Given the description of an element on the screen output the (x, y) to click on. 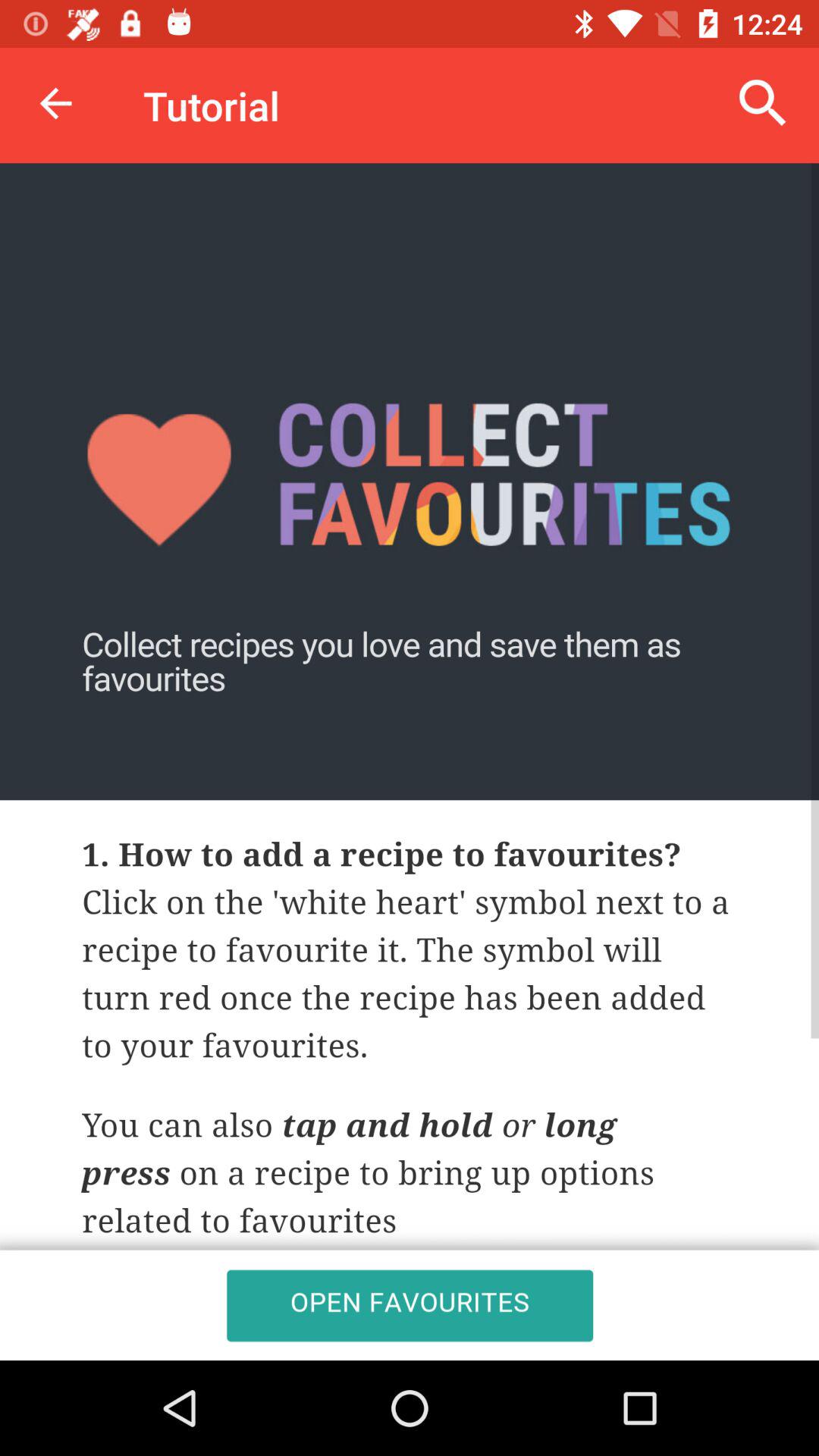
open favourites (409, 761)
